Given the description of an element on the screen output the (x, y) to click on. 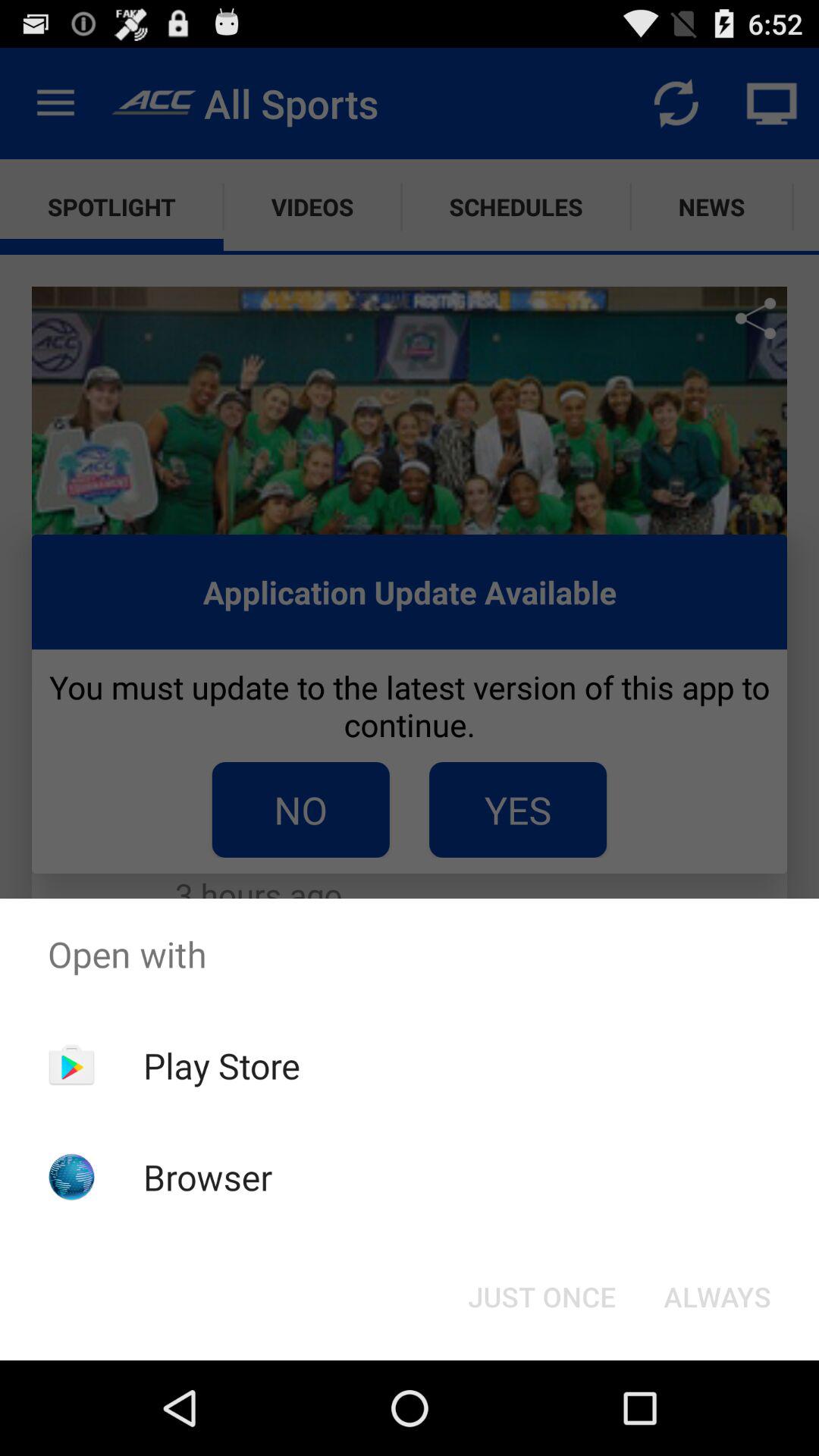
jump to the just once icon (541, 1296)
